Given the description of an element on the screen output the (x, y) to click on. 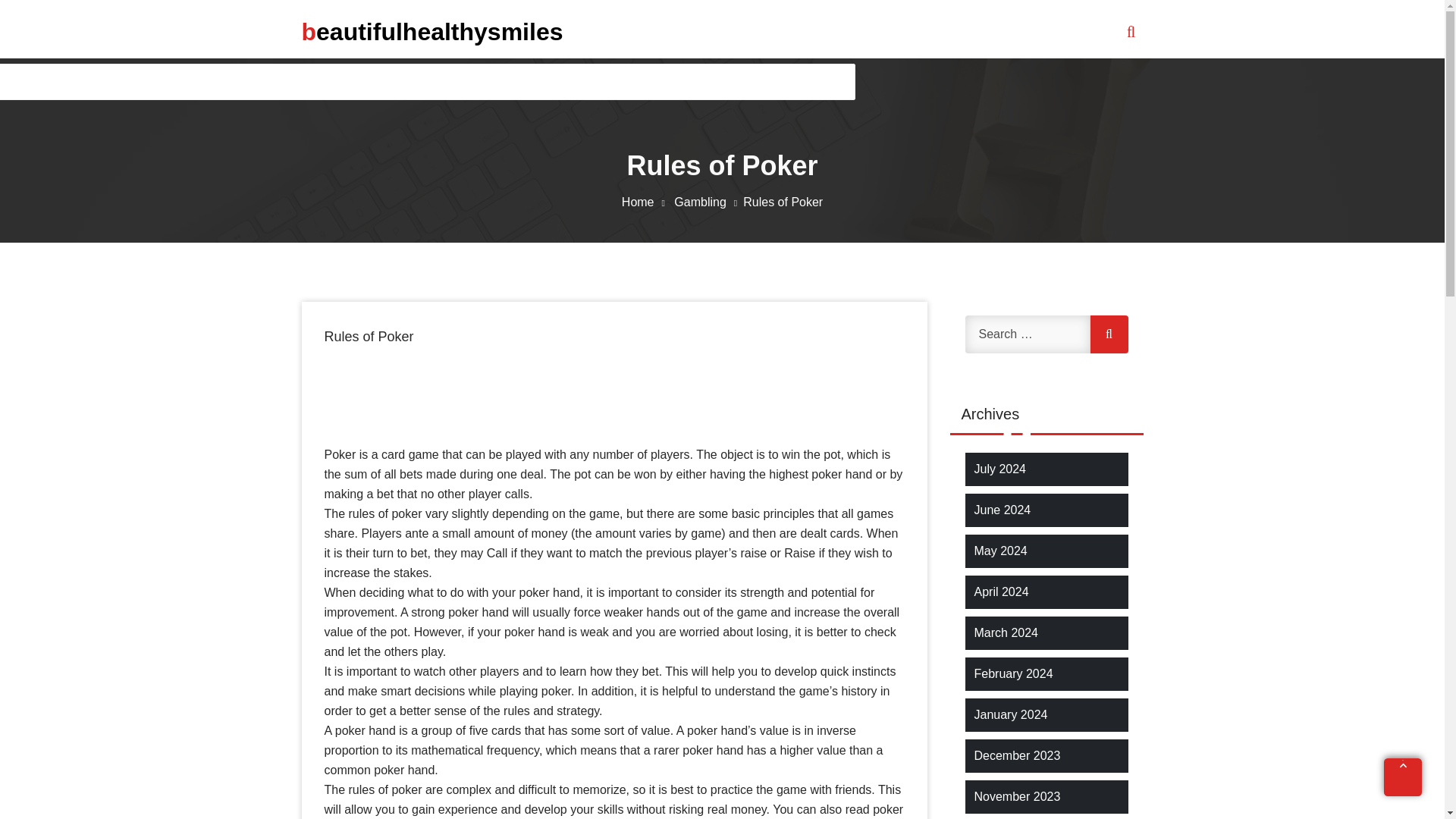
December 2023 (1016, 755)
beautifulhealthysmiles (432, 31)
March 2024 (1006, 633)
Gambling (708, 201)
July 2024 (1000, 469)
Home (646, 201)
February 2024 (1013, 674)
January 2024 (1010, 714)
May 2024 (1000, 551)
April 2024 (1000, 592)
November 2023 (1016, 796)
June 2024 (1002, 510)
